Given the description of an element on the screen output the (x, y) to click on. 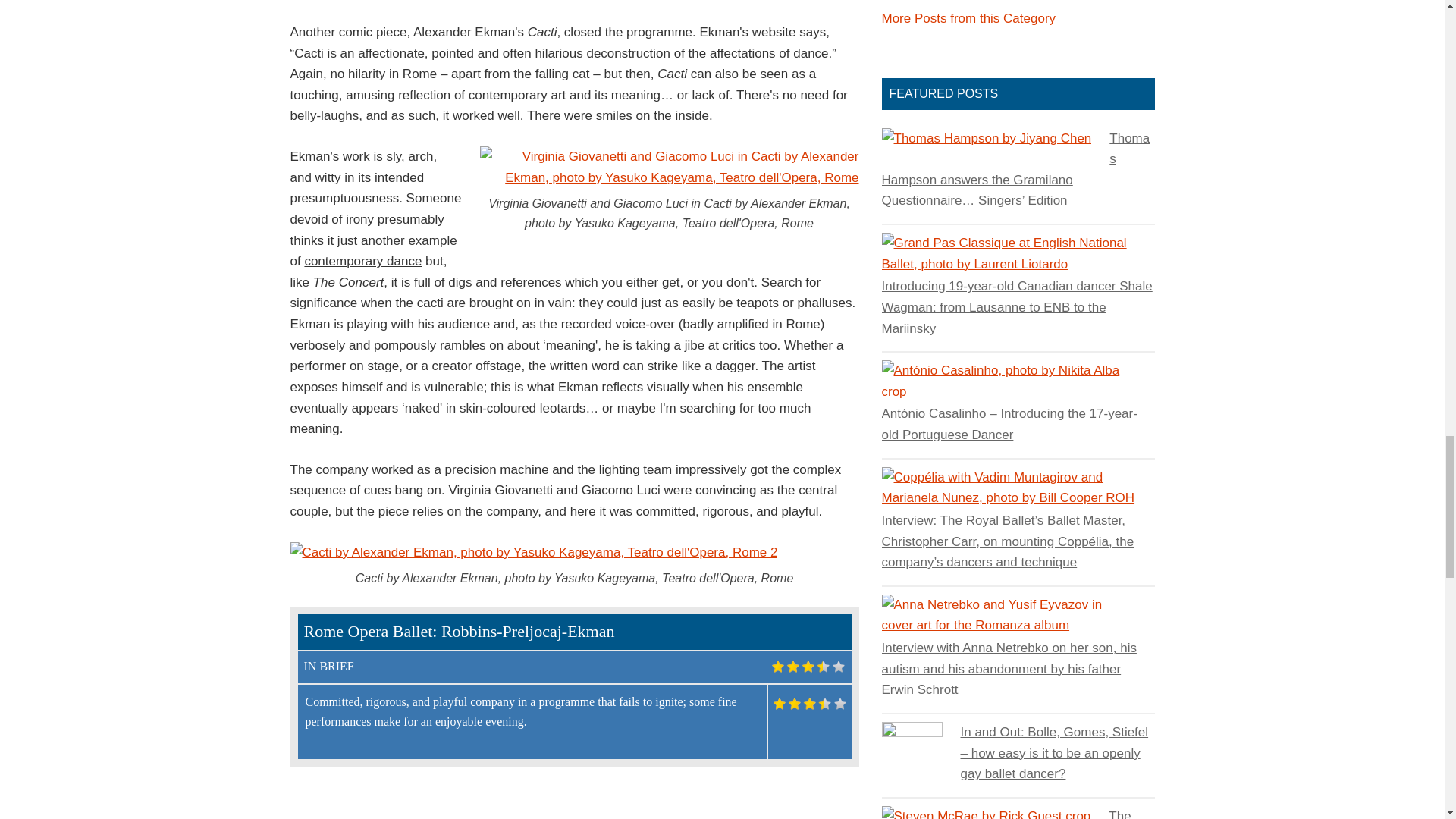
contemporary dance (363, 260)
